Given the description of an element on the screen output the (x, y) to click on. 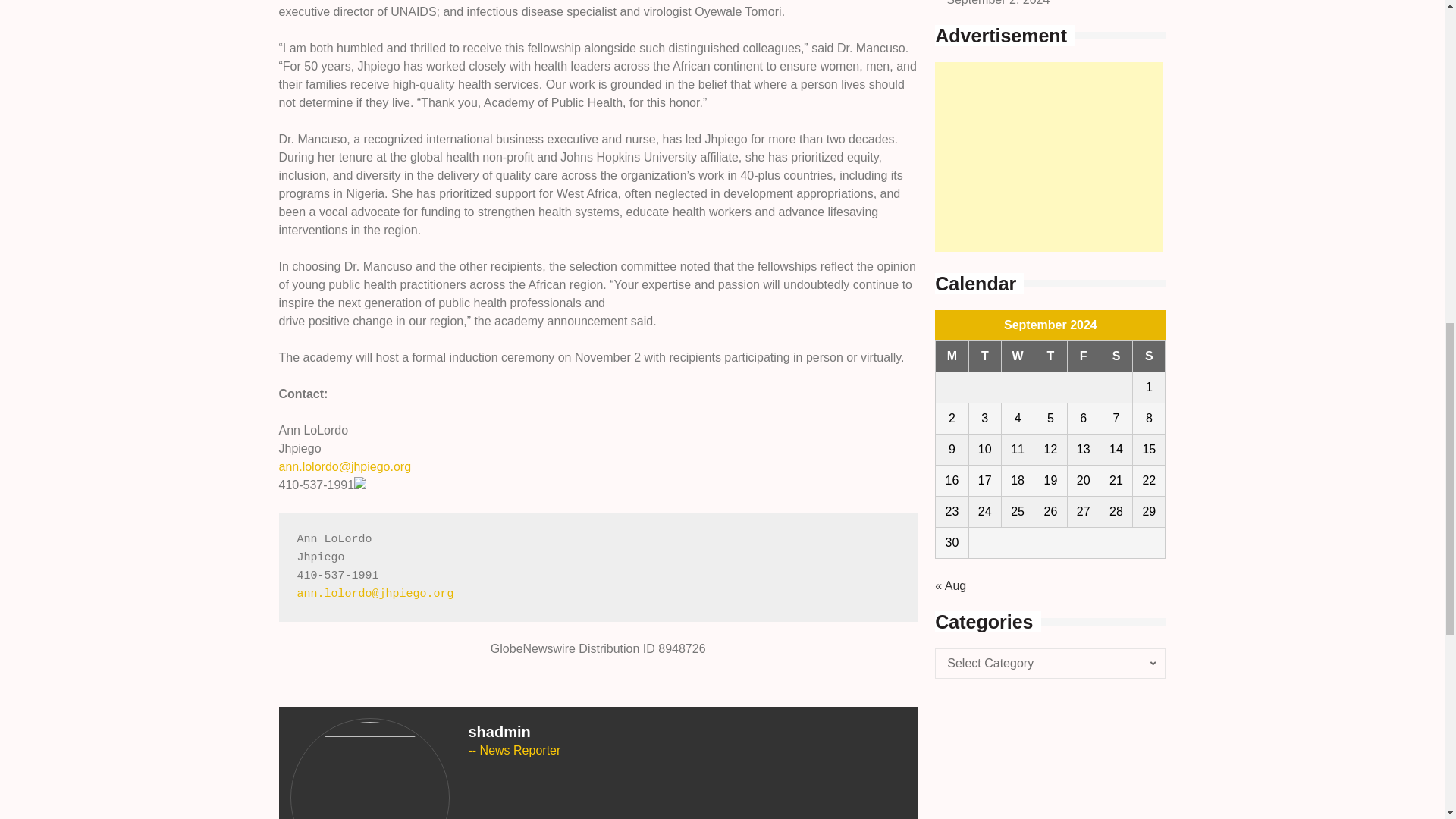
Wednesday (1017, 356)
Tuesday (984, 356)
Monday (952, 356)
Thursday (1050, 356)
Sunday (1149, 356)
Advertisement (1047, 156)
Friday (1083, 356)
Saturday (1115, 356)
Posts by shadmin (499, 731)
